Given the description of an element on the screen output the (x, y) to click on. 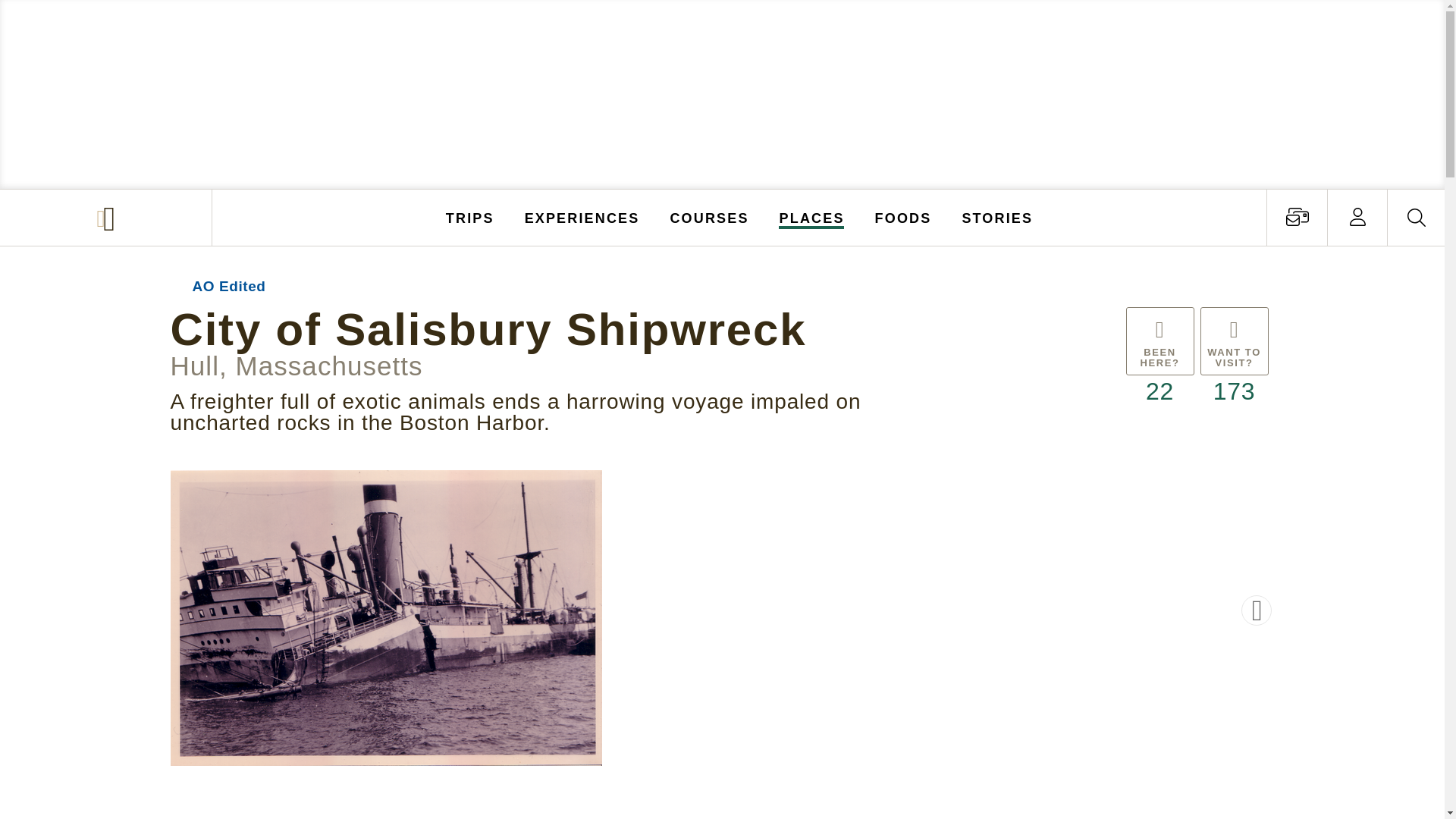
EXPERIENCES (582, 217)
PLACES (812, 217)
COURSES (707, 217)
TRIPS (469, 217)
